Given the description of an element on the screen output the (x, y) to click on. 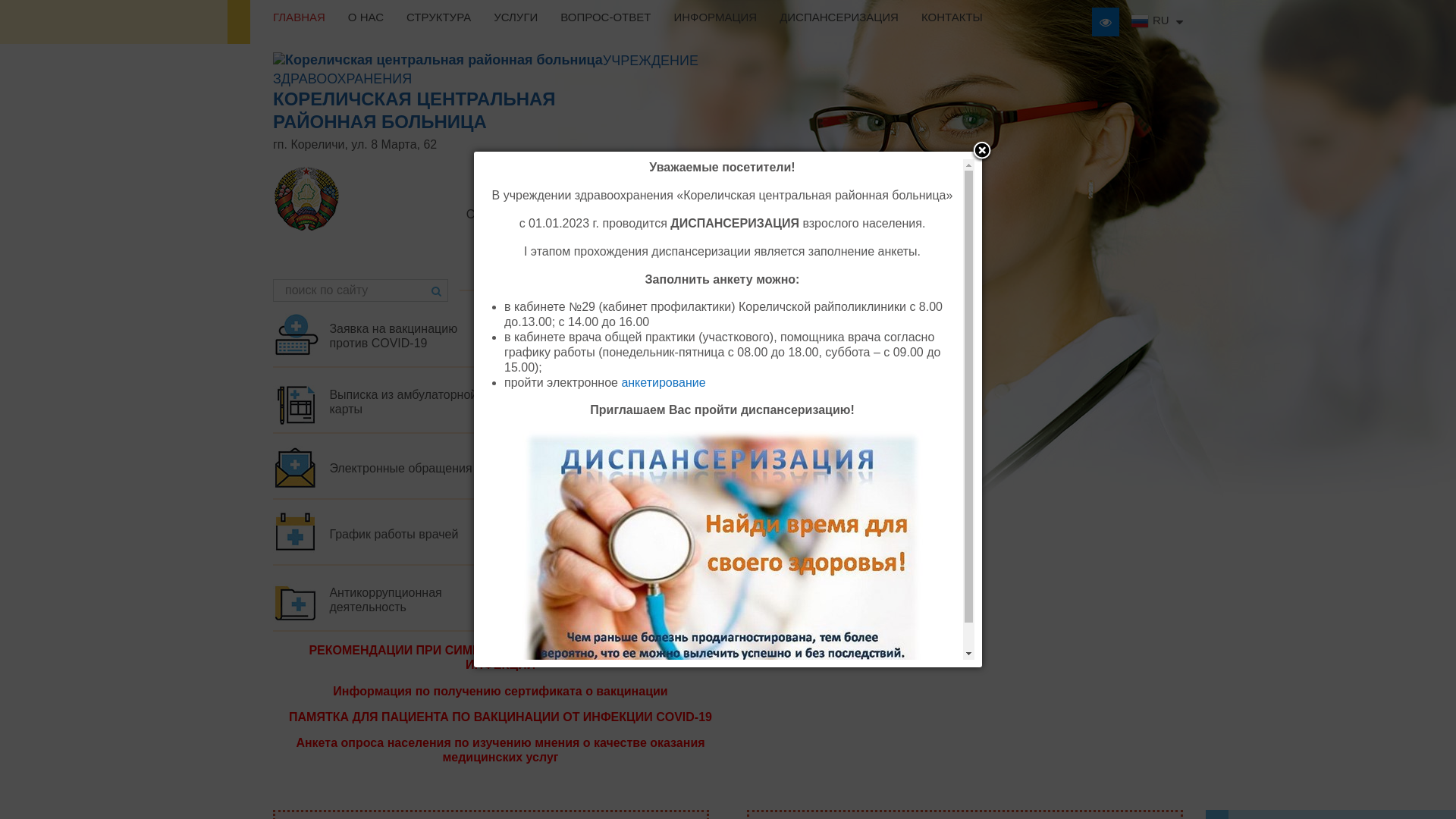
006 Element type: hover (295, 532)
003 Element type: hover (529, 400)
Odnokl Icon Element type: hover (577, 250)
Fb Element type: hover (645, 250)
003 Element type: hover (295, 598)
002 Element type: hover (295, 400)
004 Element type: hover (295, 466)
Telegram Element type: hover (712, 250)
003 Element type: hover (529, 532)
001 Element type: hover (295, 334)
info@korcrb.by Element type: text (687, 229)
003 Element type: hover (529, 598)
005 Element type: hover (529, 466)
Vk Icon Element type: hover (611, 250)
001 Element type: hover (529, 334)
Ig Element type: hover (679, 250)
